Given the description of an element on the screen output the (x, y) to click on. 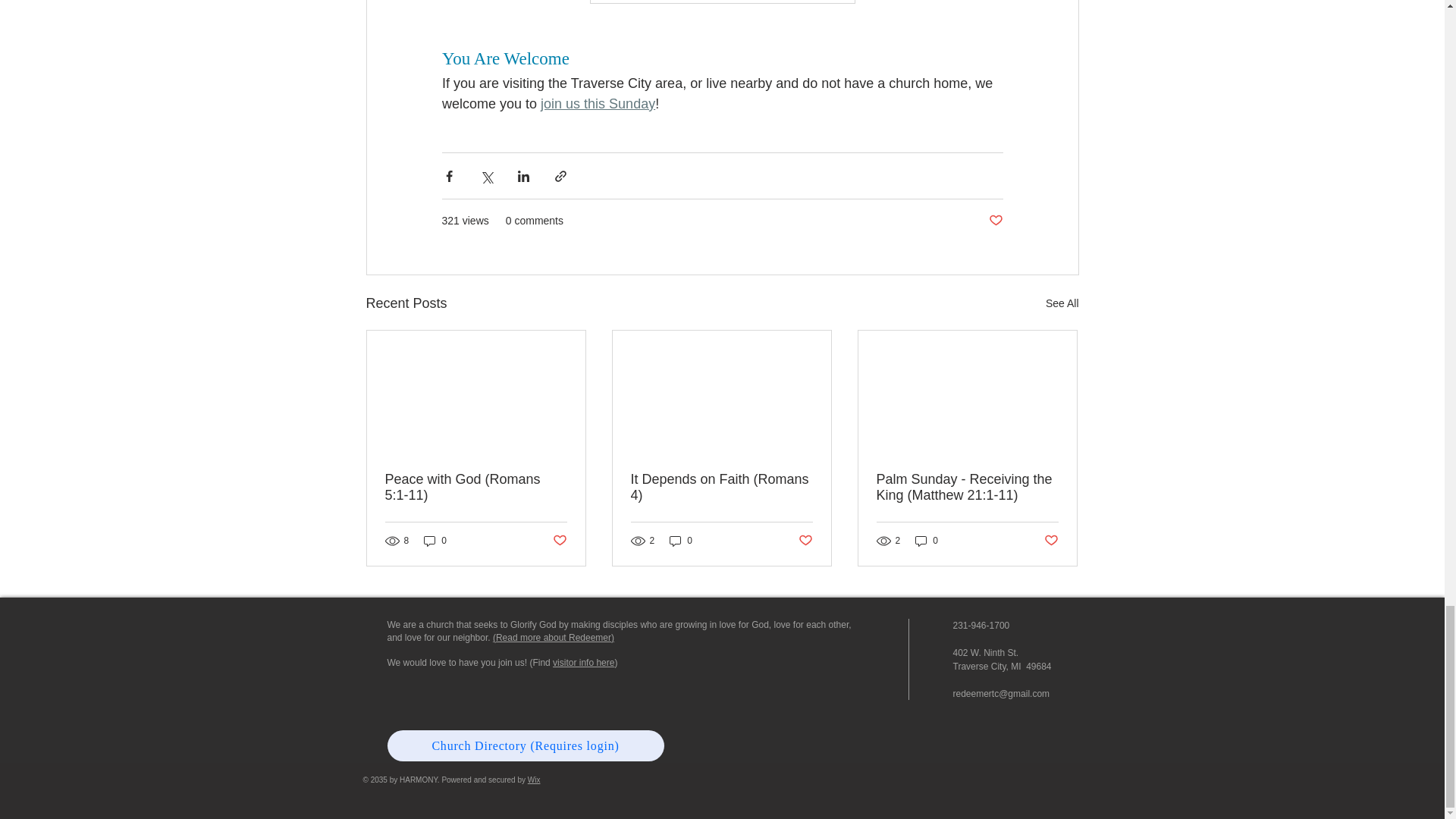
0 (435, 540)
See All (1061, 303)
Post not marked as liked (995, 220)
Post not marked as liked (558, 540)
join us this Sunday (597, 103)
